Given the description of an element on the screen output the (x, y) to click on. 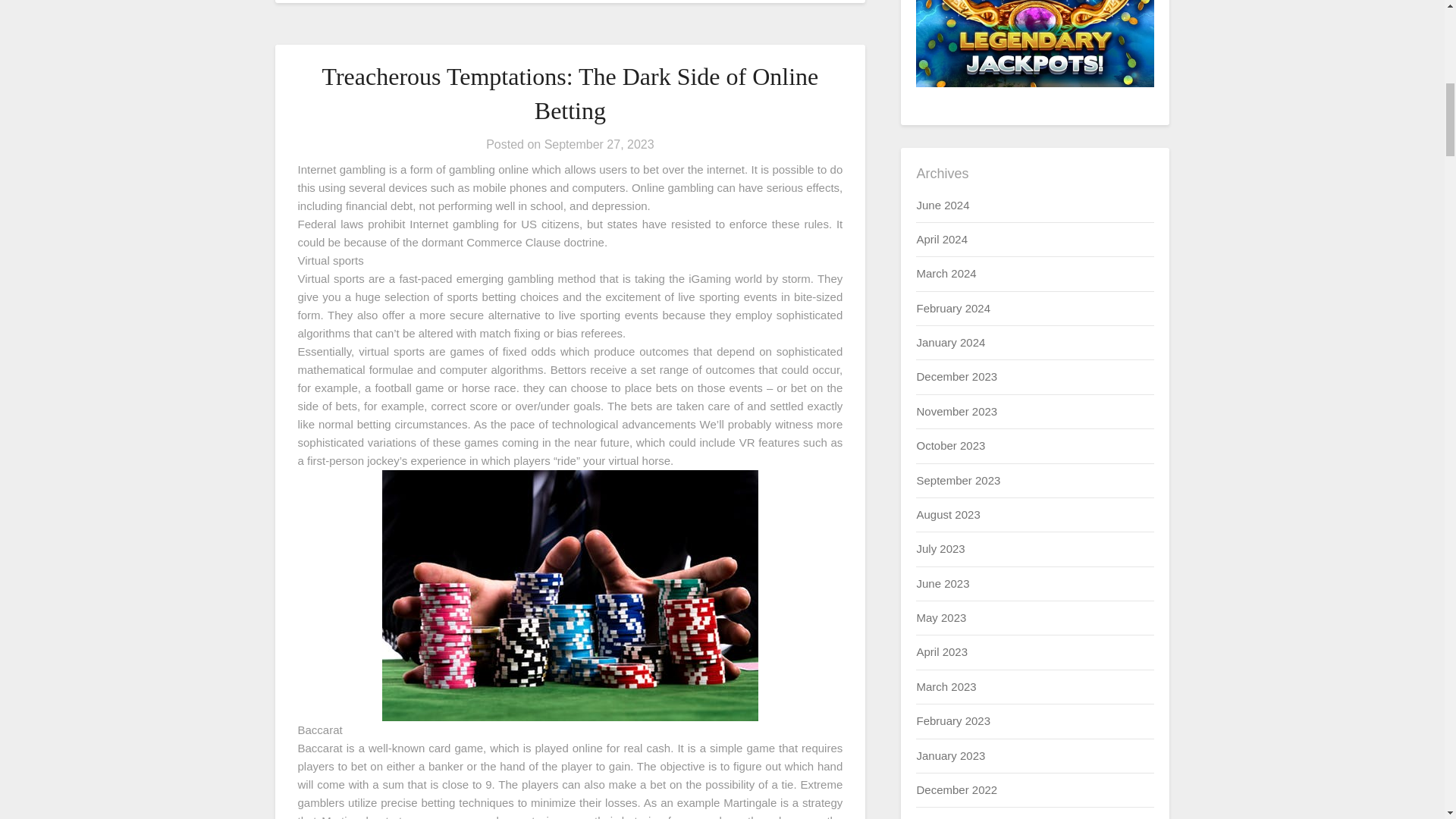
September 27, 2023 (598, 144)
Treacherous Temptations: The Dark Side of Online Betting (569, 93)
